Given the description of an element on the screen output the (x, y) to click on. 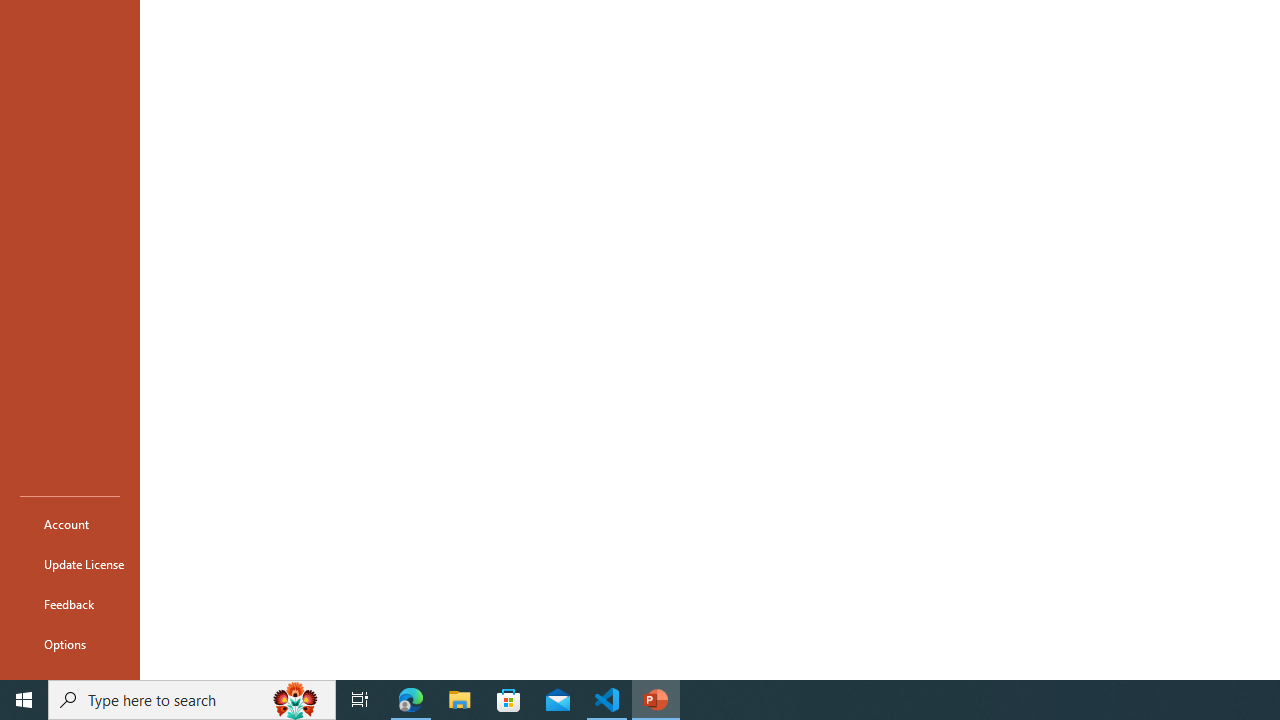
Options (69, 643)
Account (69, 523)
Feedback (69, 603)
Update License (69, 563)
